Given the description of an element on the screen output the (x, y) to click on. 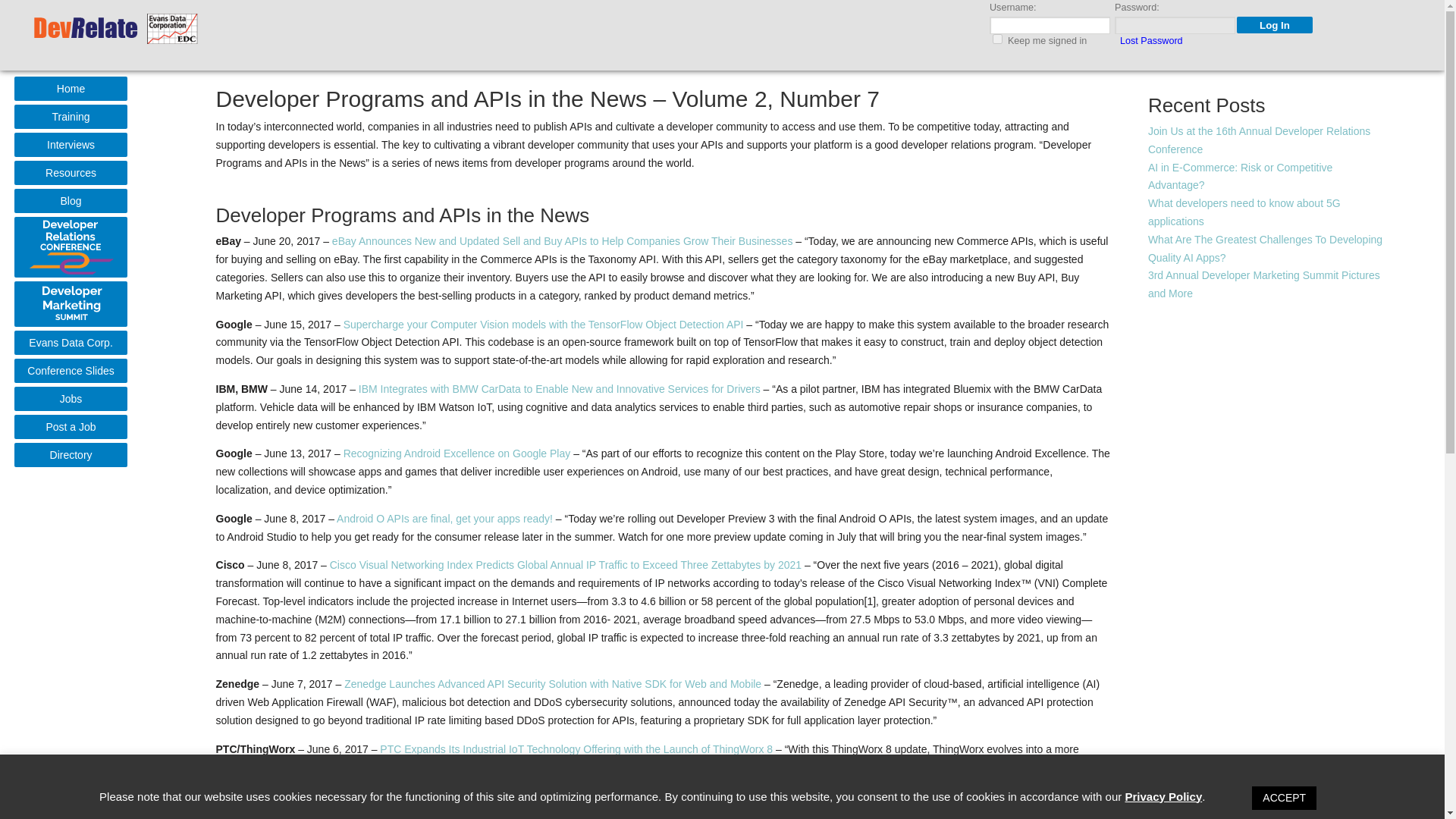
forever (997, 39)
